Given the description of an element on the screen output the (x, y) to click on. 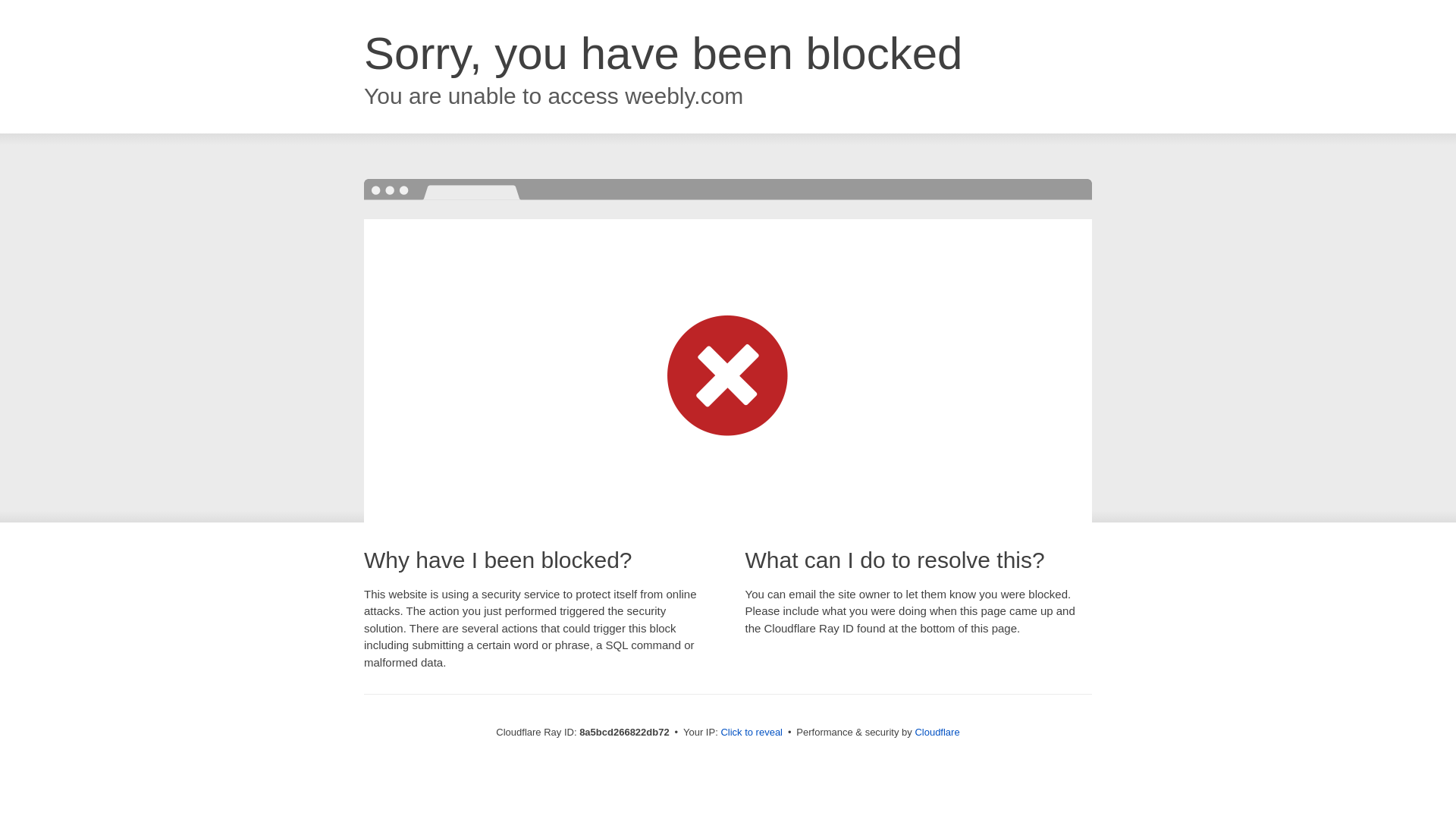
Cloudflare (936, 731)
Click to reveal (751, 732)
